Given the description of an element on the screen output the (x, y) to click on. 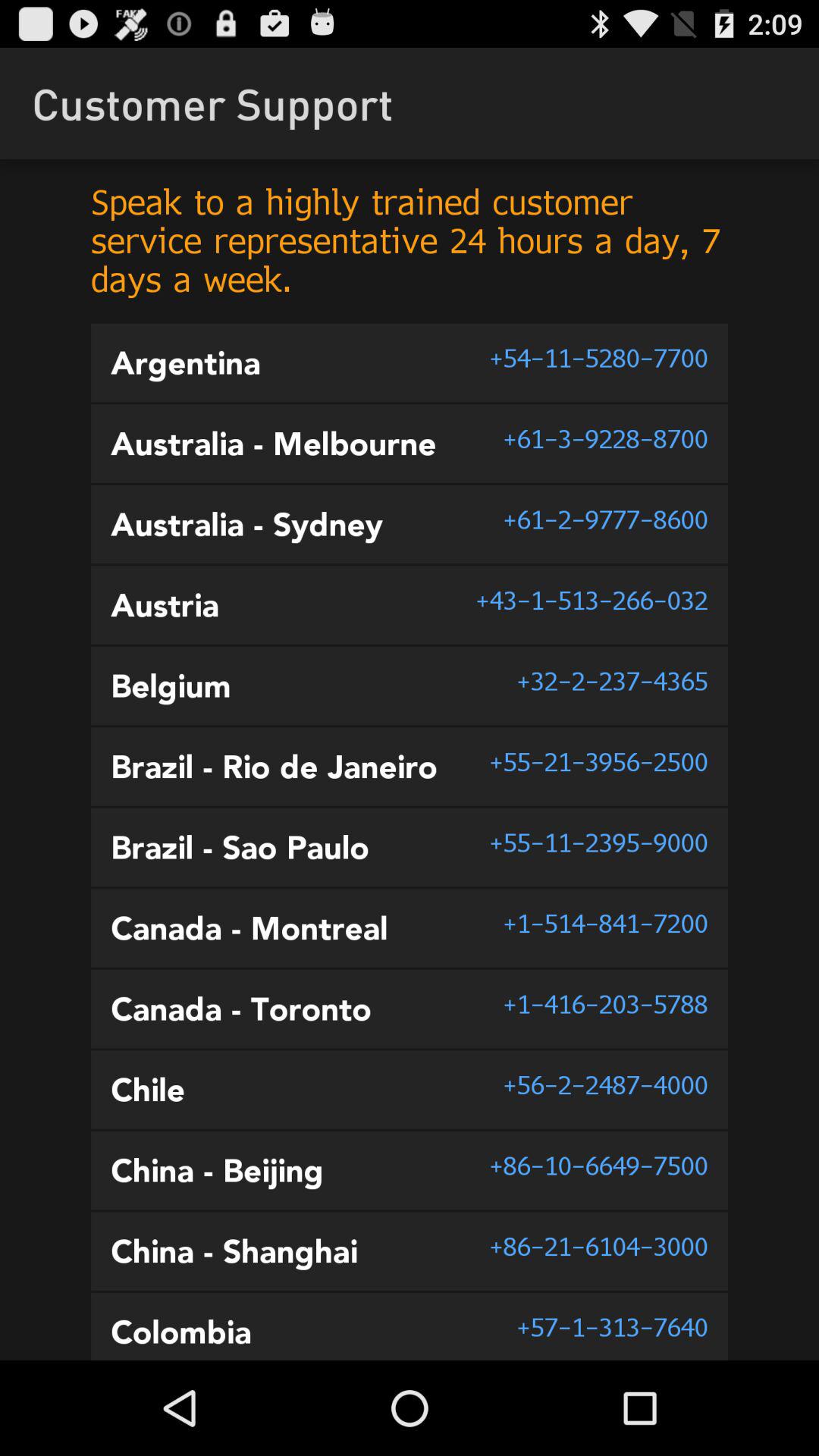
turn on the icon next to brazil rio de item (598, 761)
